Given the description of an element on the screen output the (x, y) to click on. 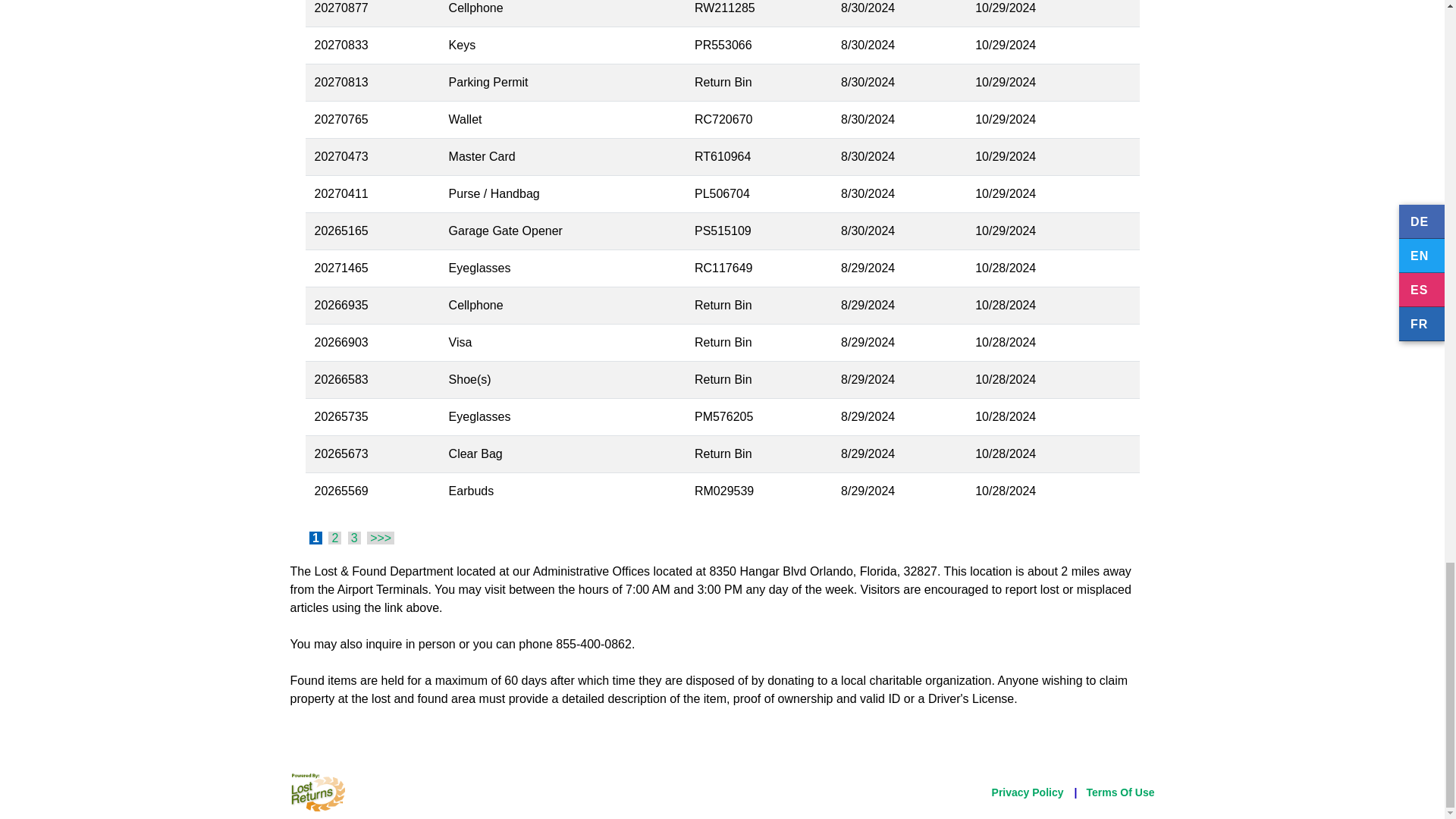
Privacy Policy (1027, 792)
Terms Of Use (1120, 792)
2 (334, 537)
3 (354, 537)
